Given the description of an element on the screen output the (x, y) to click on. 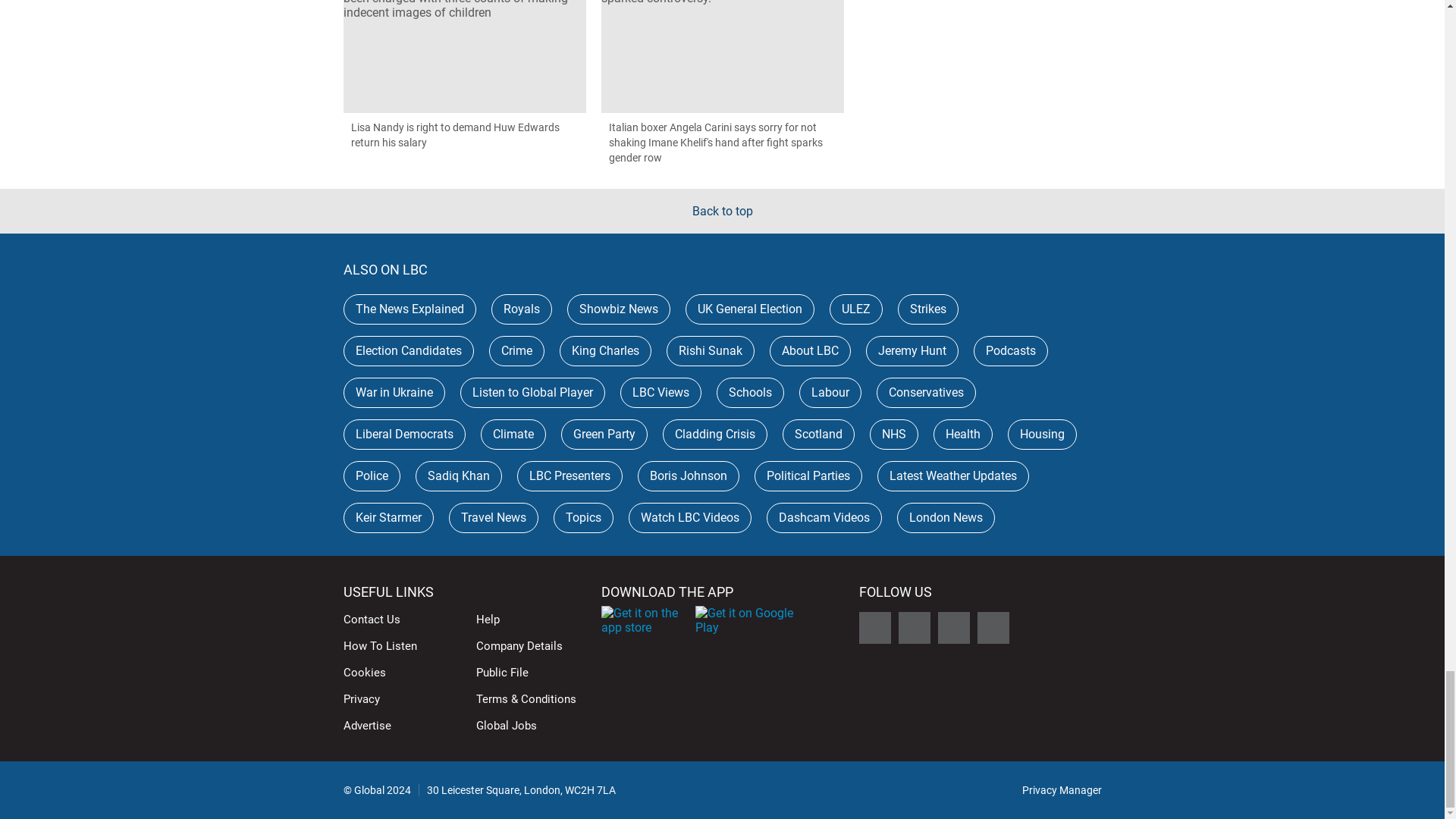
Back to top (721, 210)
Follow LBC on Instagram (953, 627)
Follow LBC on Facebook (914, 627)
Follow LBC on Youtube (992, 627)
Follow LBC on X (874, 627)
